Given the description of an element on the screen output the (x, y) to click on. 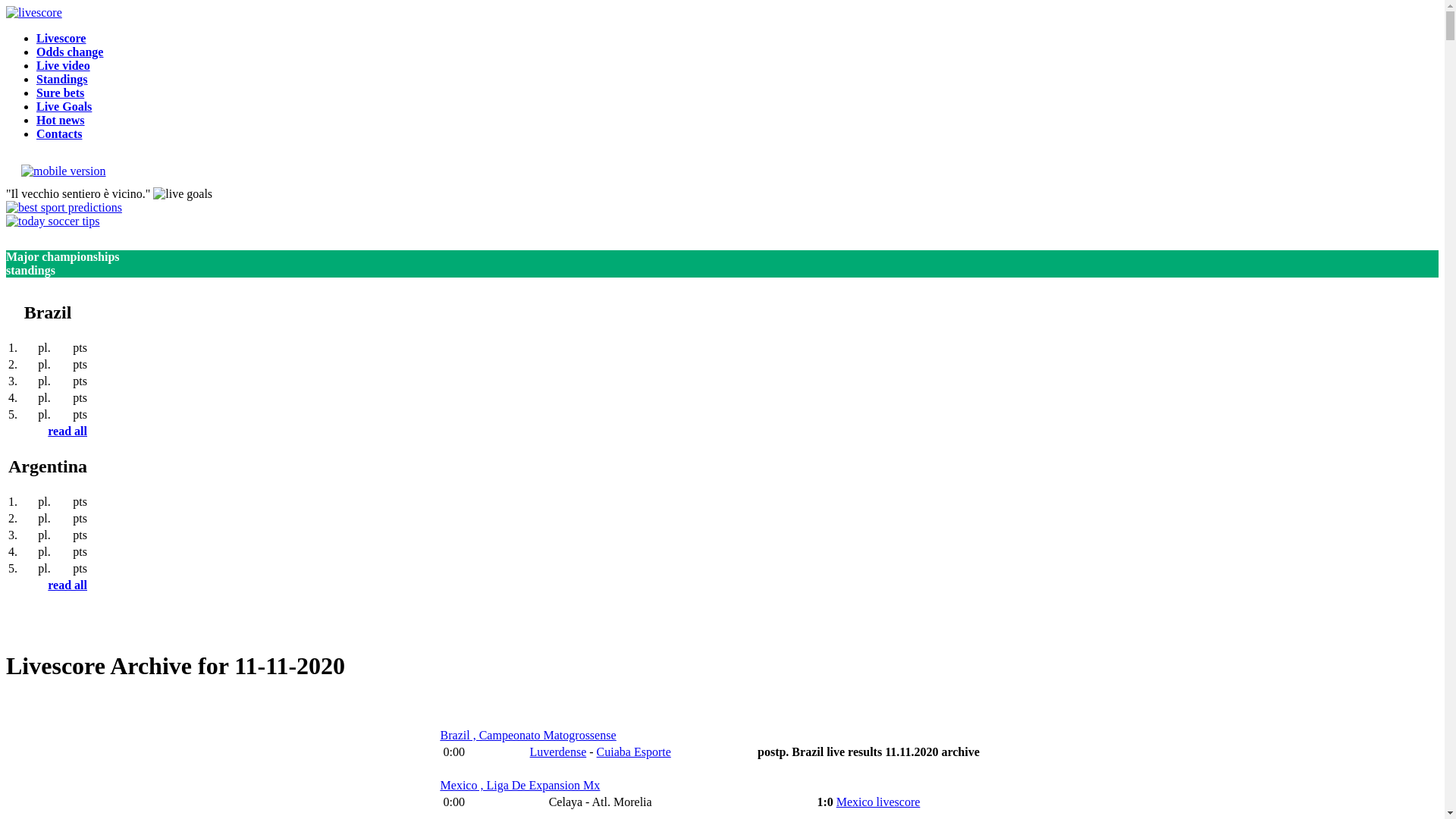
Live Goals Element type: text (63, 106)
Livescore Element type: text (60, 37)
Mexico livescore Element type: text (878, 801)
Contacts Element type: text (58, 133)
Mobile version Element type: hover (56, 170)
Sure bets Element type: text (60, 92)
Hot news Element type: text (60, 119)
Brazil , Campeonato Matogrossense Element type: text (528, 734)
Odds change Element type: text (69, 51)
Live video Element type: text (63, 65)
Best Sport predictions TODAY Element type: hover (64, 206)
Standings Element type: text (61, 78)
Luverdense Element type: text (558, 751)
read all Element type: text (67, 430)
Mexico , Liga De Expansion Mx Element type: text (520, 784)
read all Element type: text (67, 584)
Cuiaba Esporte Element type: text (633, 751)
Paid football predictions Element type: hover (53, 220)
